Given the description of an element on the screen output the (x, y) to click on. 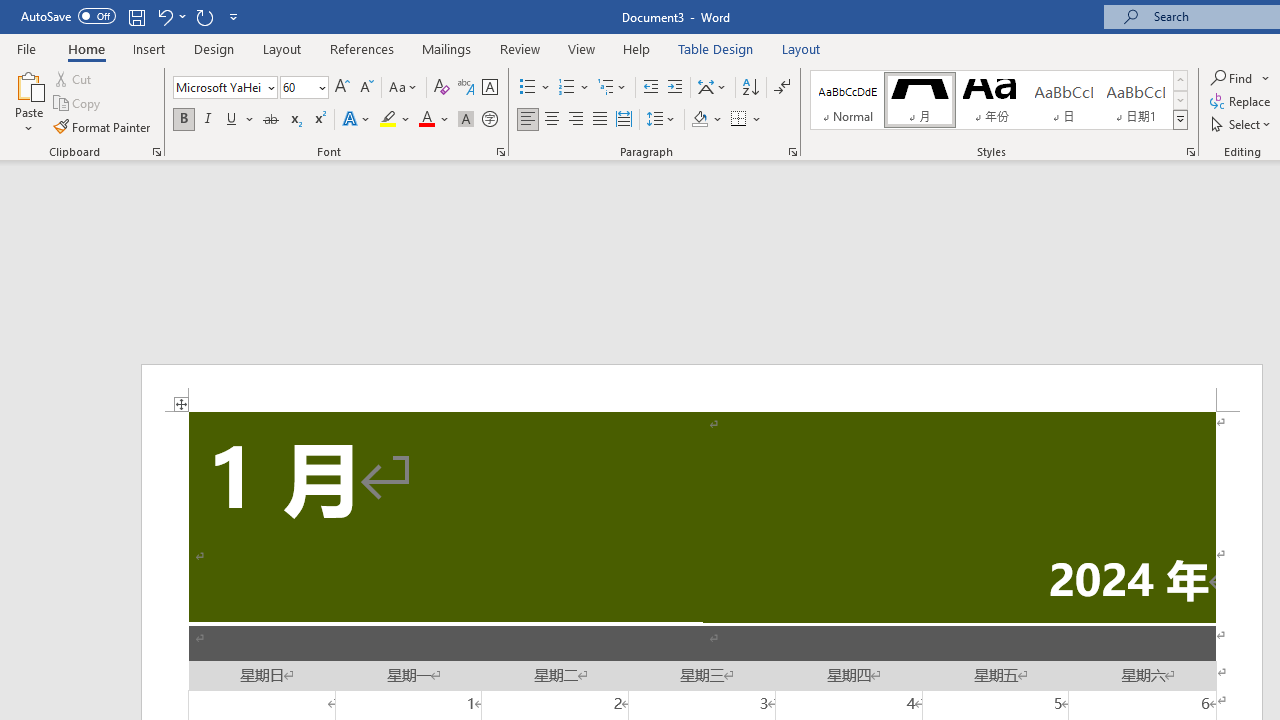
Repeat Doc Close (204, 15)
Enclose Characters... (489, 119)
Align Right (575, 119)
Cut (73, 78)
Styles... (1190, 151)
Asian Layout (712, 87)
Header -Section 1- (701, 387)
Help (637, 48)
Undo Apply Quick Style (170, 15)
Shrink Font (365, 87)
Numbering (573, 87)
References (362, 48)
Character Shading (465, 119)
Borders (739, 119)
Copy (78, 103)
